Given the description of an element on the screen output the (x, y) to click on. 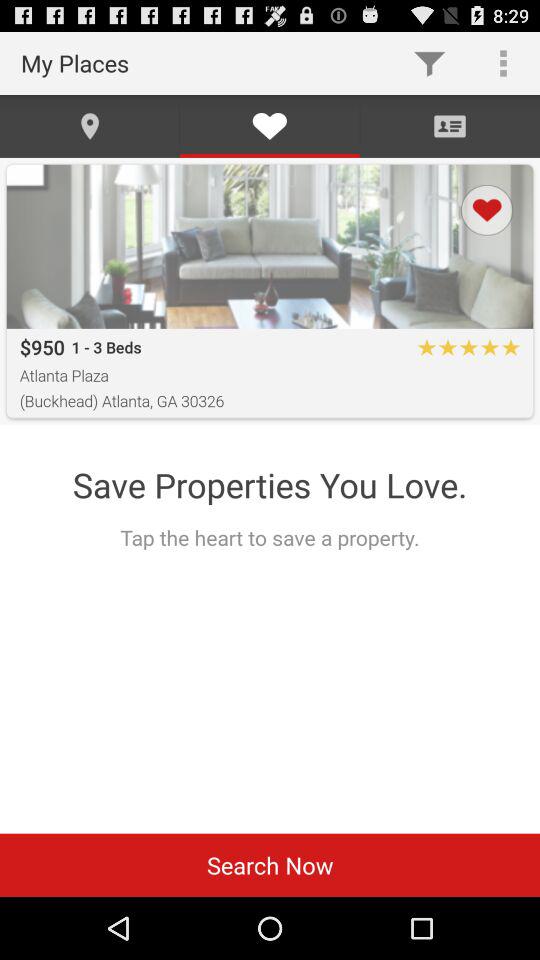
tap the app to the right of my places (429, 62)
